Given the description of an element on the screen output the (x, y) to click on. 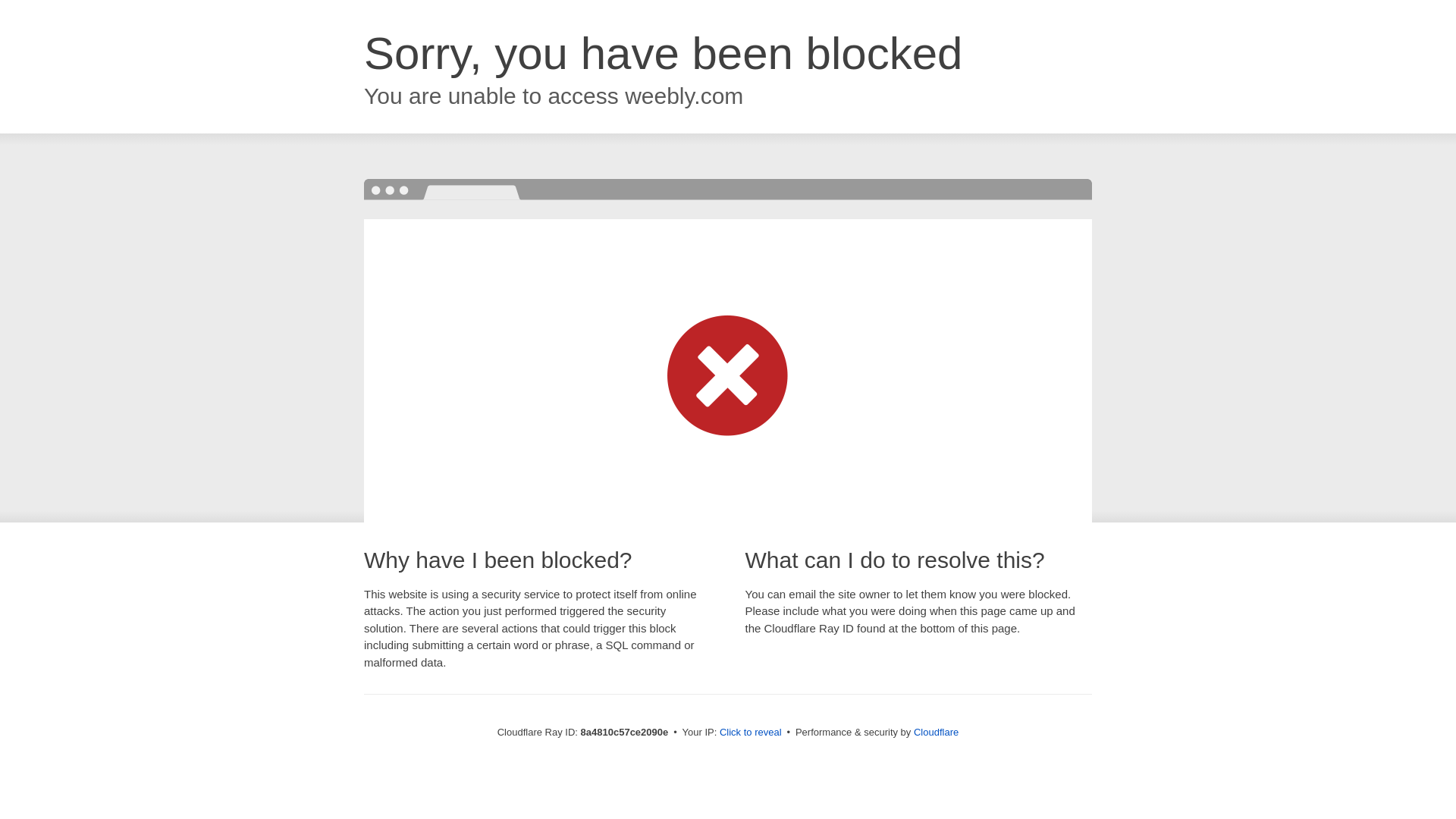
Click to reveal (750, 732)
Cloudflare (936, 731)
